Given the description of an element on the screen output the (x, y) to click on. 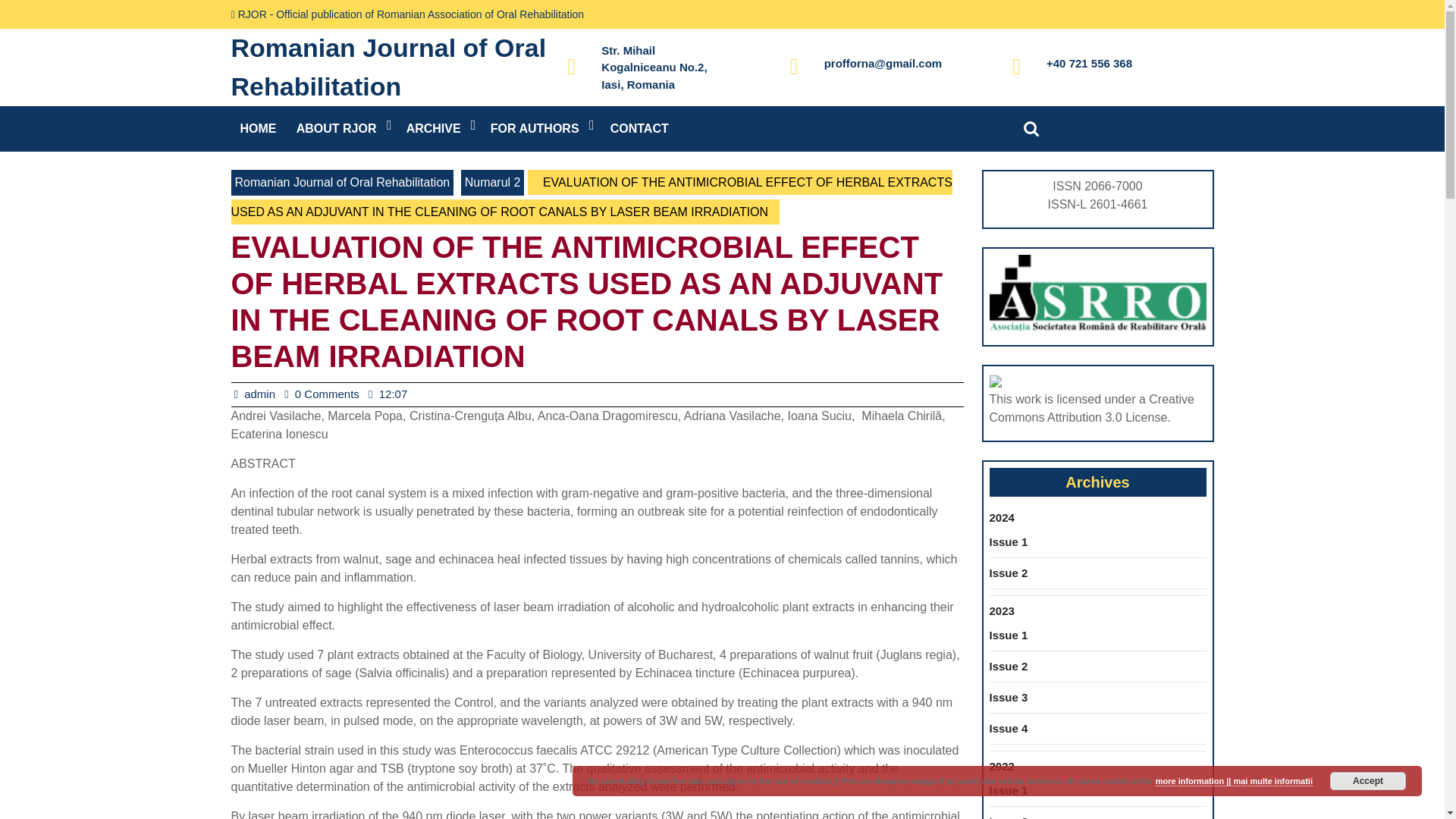
ABOUT RJOR (342, 128)
ARCHIVE (439, 128)
Romanian Journal of Oral Rehabilitation (388, 66)
Search (1033, 128)
HOME (257, 128)
Search (1033, 128)
